Given the description of an element on the screen output the (x, y) to click on. 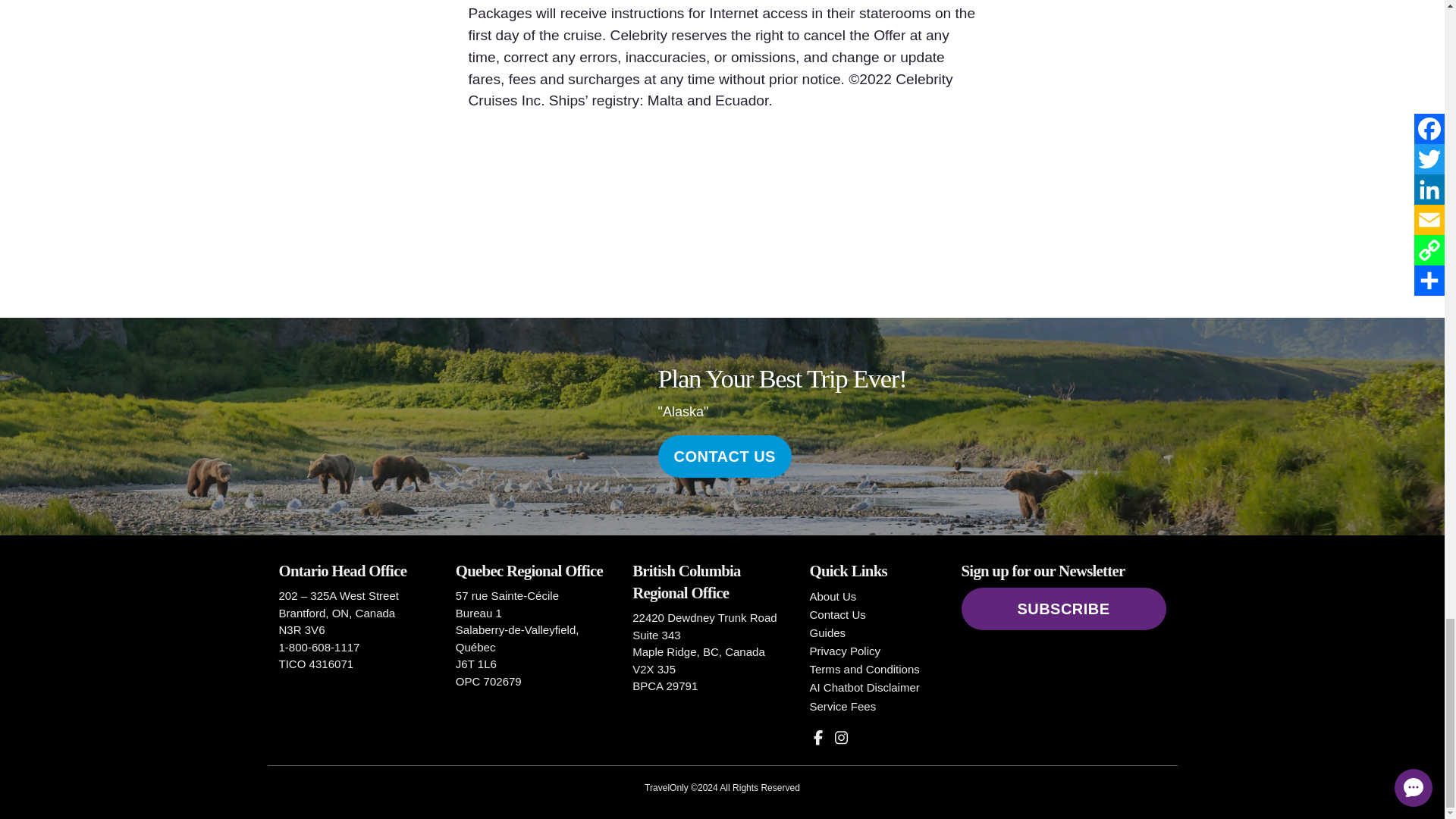
Guides (827, 632)
1-800-608-1117 (319, 646)
Terms and Conditions (863, 668)
AI Chatbot Disclaimer (863, 686)
Privacy Policy (844, 650)
About Us (832, 595)
Service Fees (842, 706)
CONTACT US (725, 455)
Contact Us (836, 614)
